Given the description of an element on the screen output the (x, y) to click on. 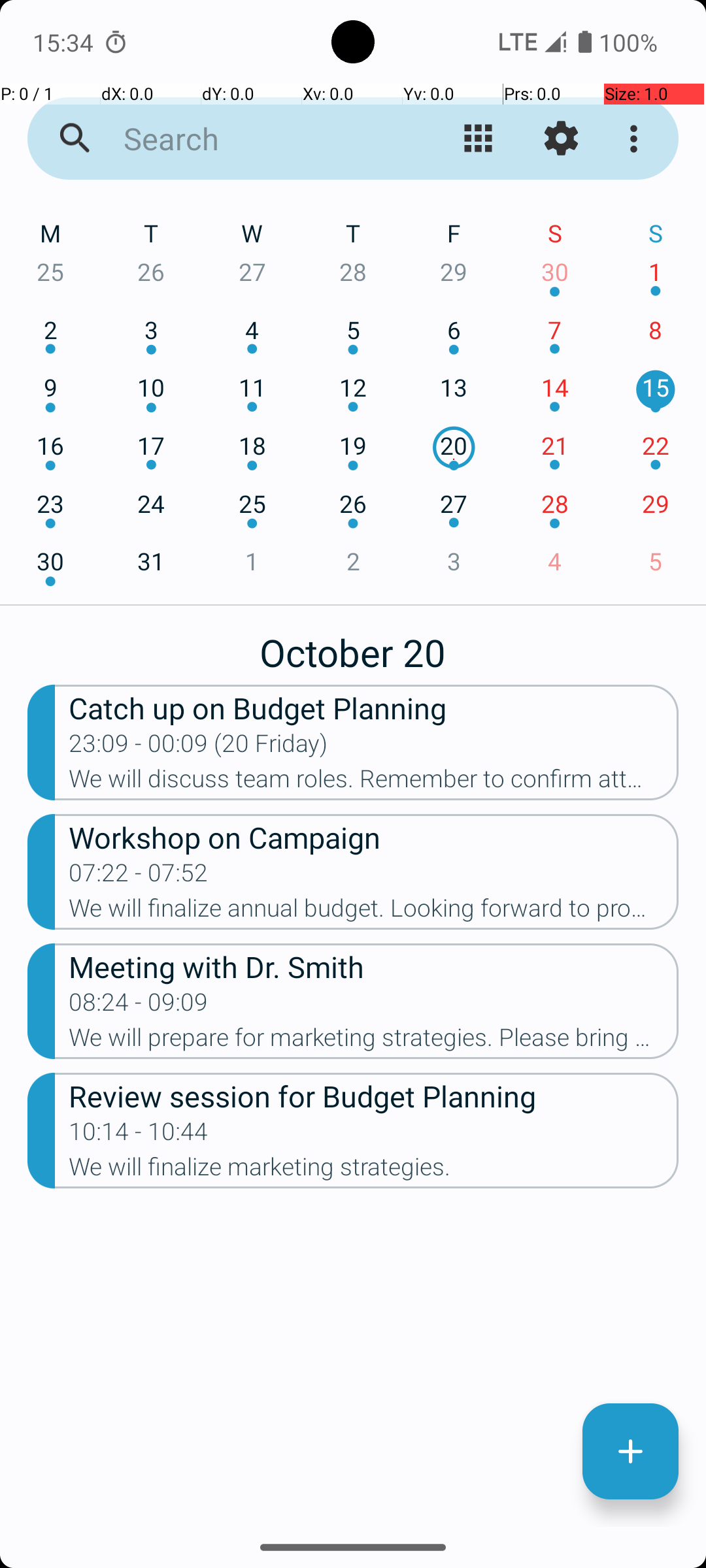
October 20 Element type: android.widget.TextView (352, 644)
23:09 - 00:09 (20 Friday) Element type: android.widget.TextView (198, 747)
We will discuss team roles. Remember to confirm attendance. Element type: android.widget.TextView (373, 782)
07:22 - 07:52 Element type: android.widget.TextView (137, 876)
We will finalize annual budget. Looking forward to productive discussions. Element type: android.widget.TextView (373, 911)
08:24 - 09:09 Element type: android.widget.TextView (137, 1005)
We will prepare for marketing strategies. Please bring relevant documents. Element type: android.widget.TextView (373, 1041)
10:14 - 10:44 Element type: android.widget.TextView (137, 1135)
We will finalize marketing strategies. Element type: android.widget.TextView (373, 1170)
